Given the description of an element on the screen output the (x, y) to click on. 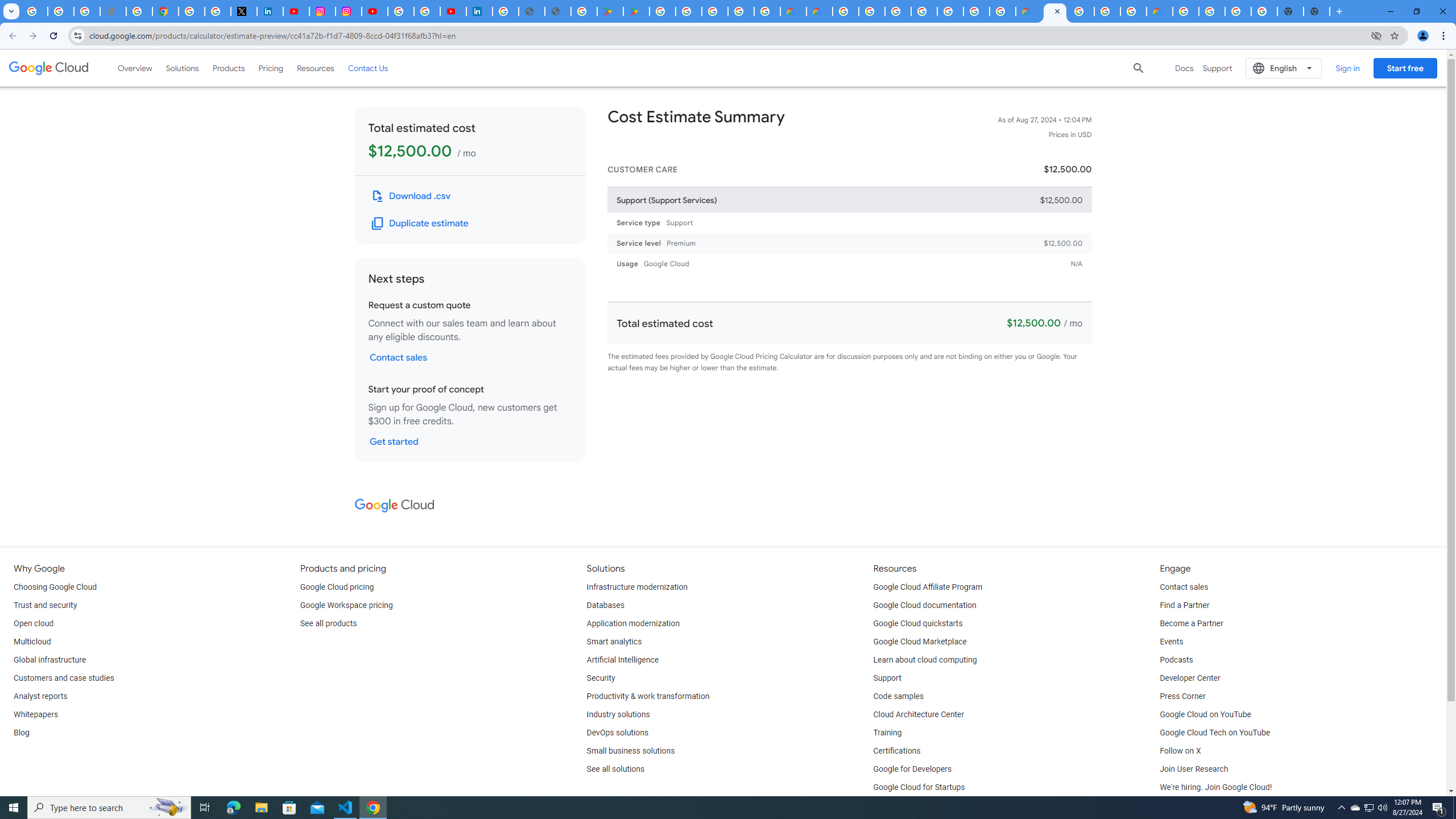
Industry solutions (617, 714)
Google Cloud Estimate Summary (1054, 11)
Analyst reports (39, 696)
Infrastructure modernization (637, 587)
Google Cloud Platform (1211, 11)
Security (600, 678)
Cloud Architecture Center (918, 714)
LinkedIn Privacy Policy (269, 11)
Find a Partner (1183, 605)
Blog (21, 732)
